Given the description of an element on the screen output the (x, y) to click on. 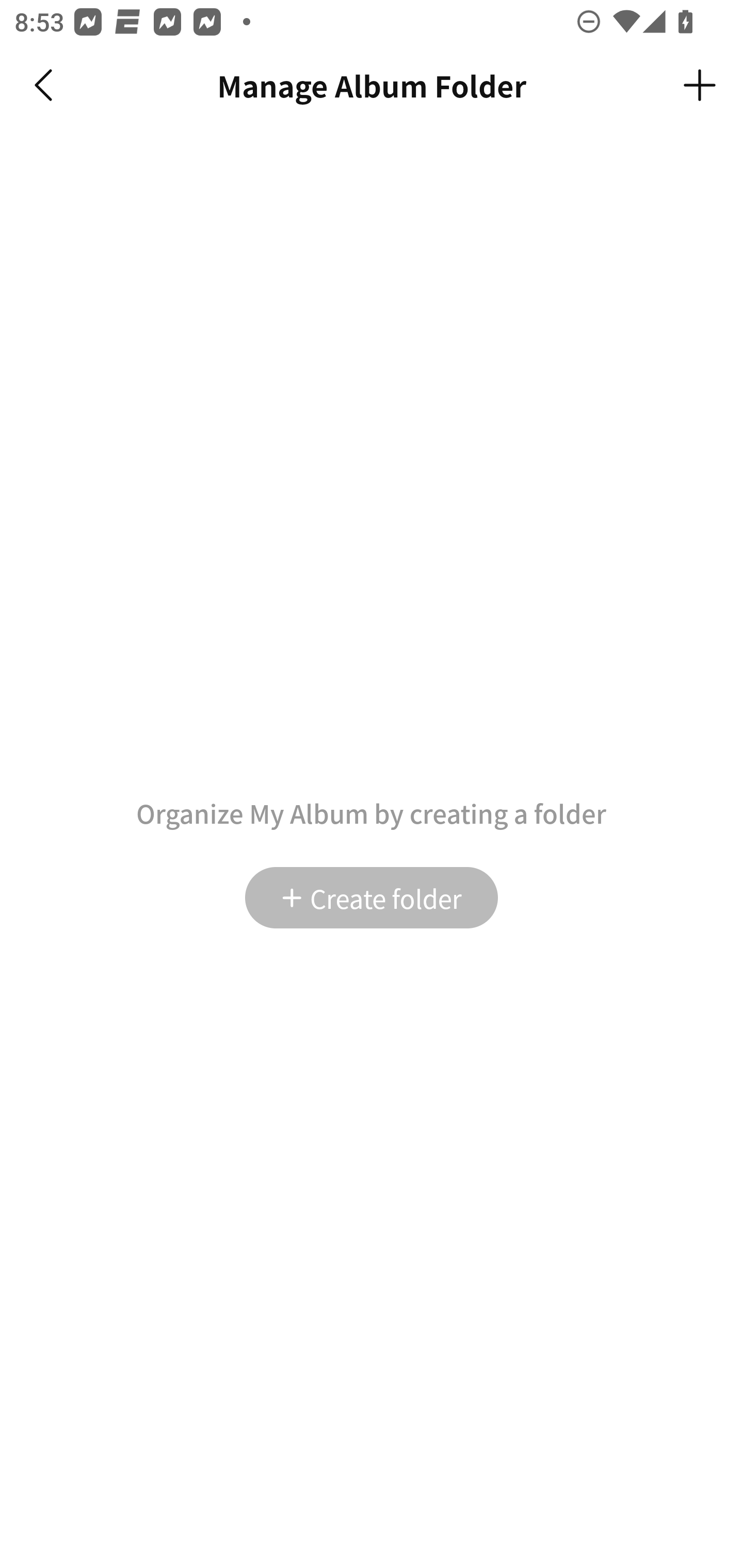
Create folder (371, 897)
